Given the description of an element on the screen output the (x, y) to click on. 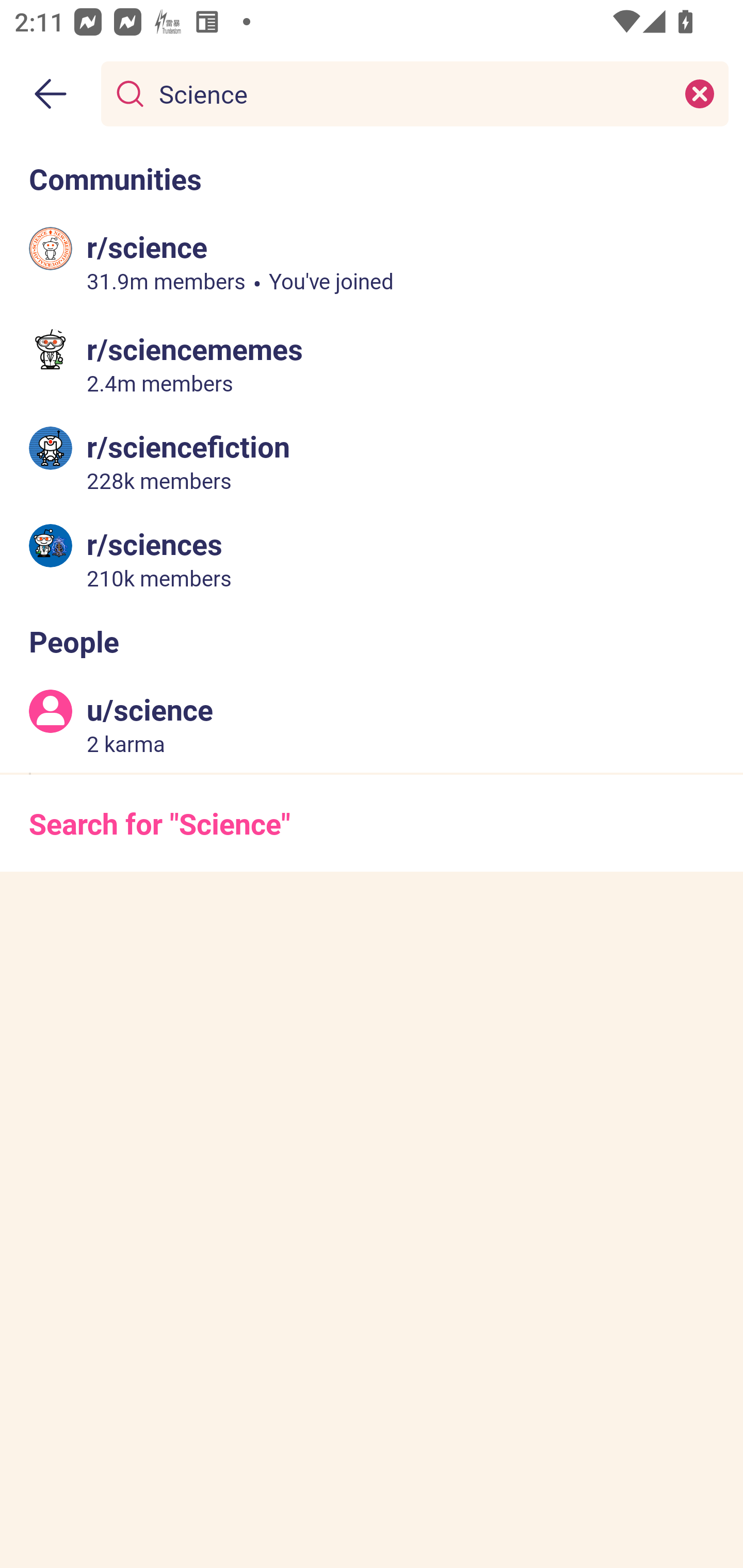
Back (50, 93)
Science (410, 93)
Clear search (699, 93)
r/sciencememes 2.4m members 2.4 million members (371, 363)
r/sciencefiction 228k members 228 thousand members (371, 460)
r/sciences 210k members 210 thousand members (371, 557)
u/science 2 karma 2 karma (371, 724)
Search for "Science" (371, 822)
